Given the description of an element on the screen output the (x, y) to click on. 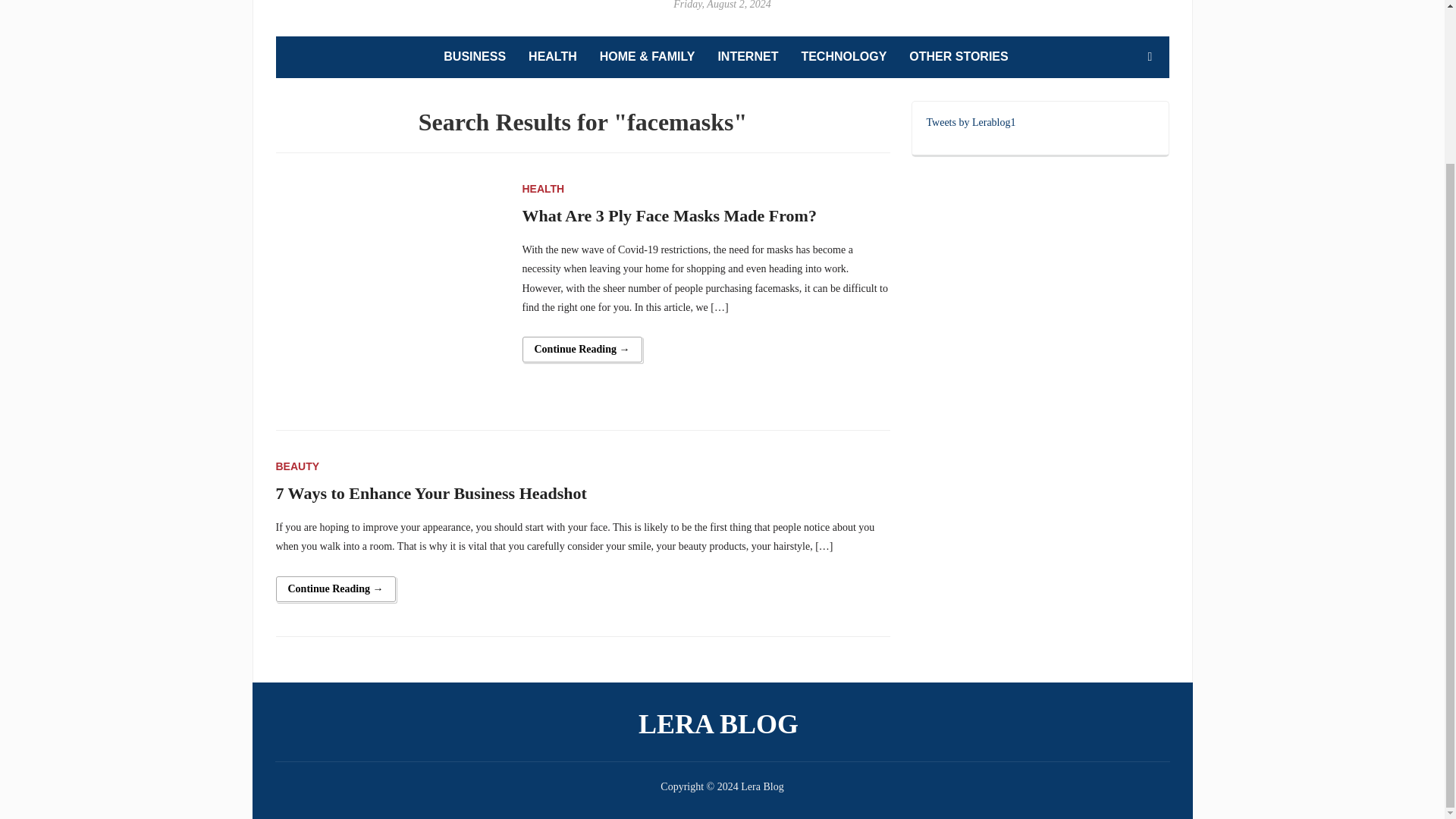
Permalink to 7 Ways to Enhance Your Business Headshot (336, 588)
What Are 3 Ply Face Masks Made From? (389, 292)
Search (1149, 56)
Permalink to What Are 3 Ply Face Masks Made From? (581, 349)
